Given the description of an element on the screen output the (x, y) to click on. 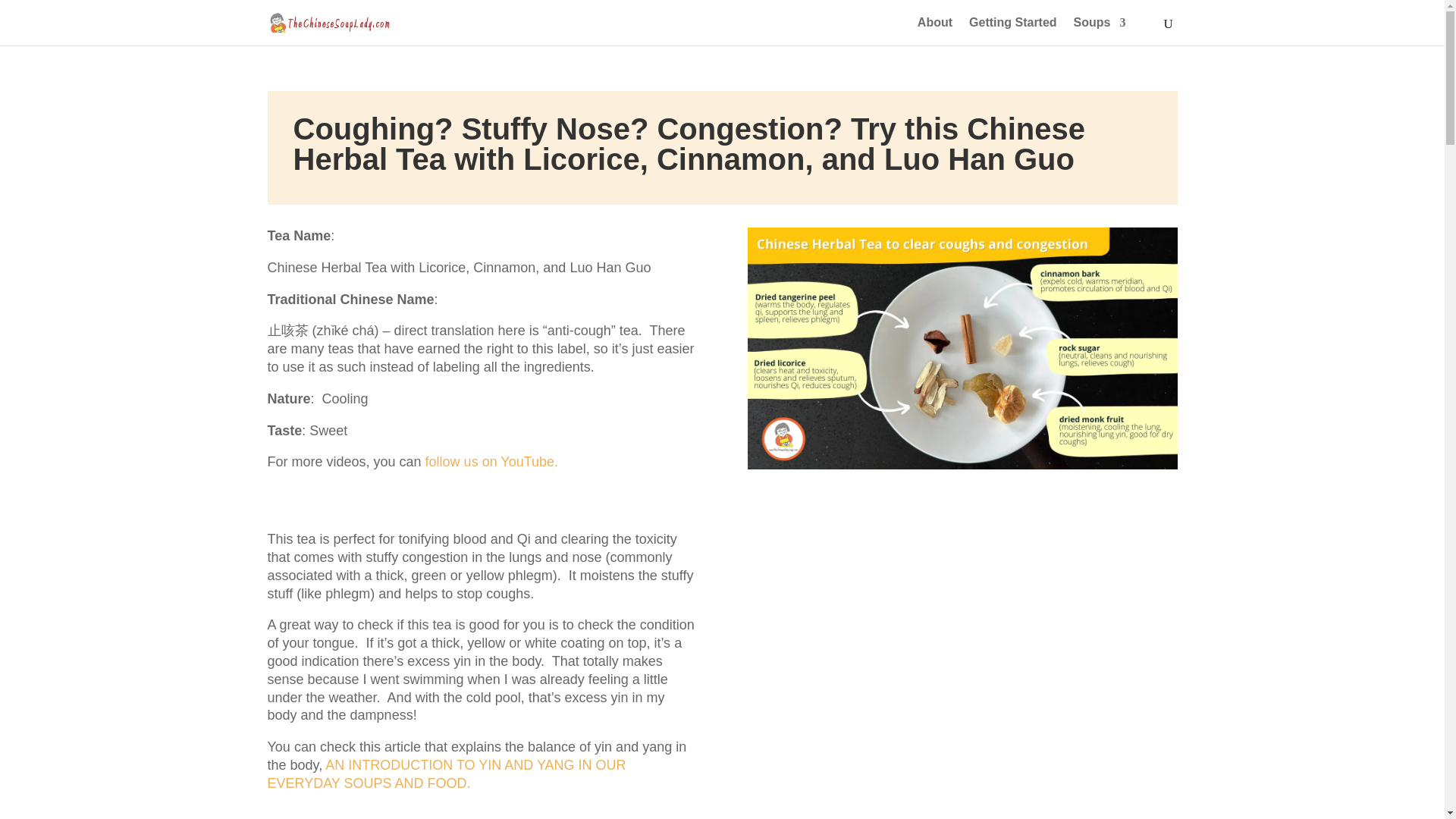
Soups (1099, 31)
follow us on YouTube. (491, 461)
Getting Started (1013, 31)
About (934, 31)
